Given the description of an element on the screen output the (x, y) to click on. 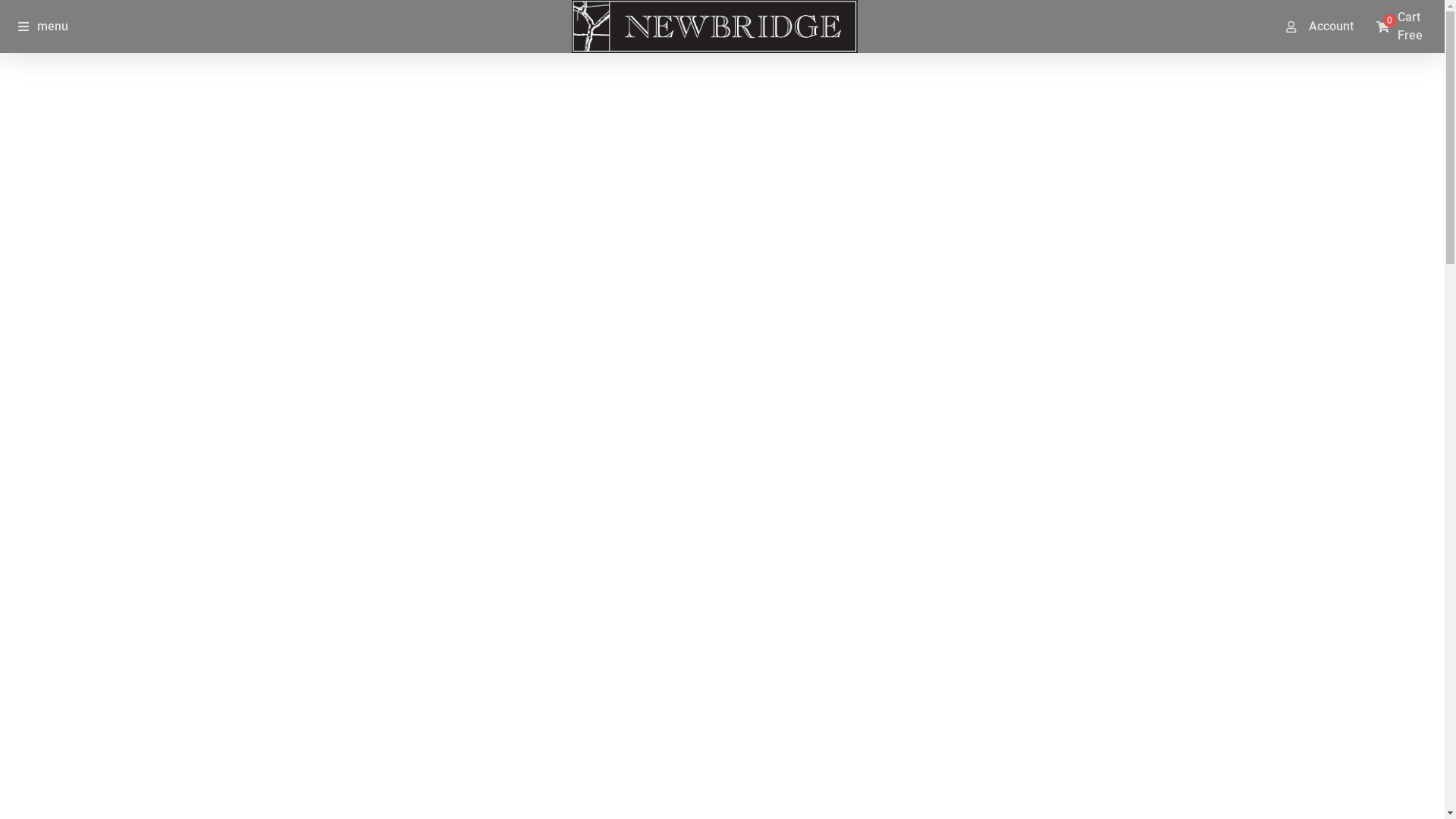
menu Element type: text (43, 25)
Cart Free
0 Element type: text (1399, 26)
Account Element type: text (1326, 26)
